Given the description of an element on the screen output the (x, y) to click on. 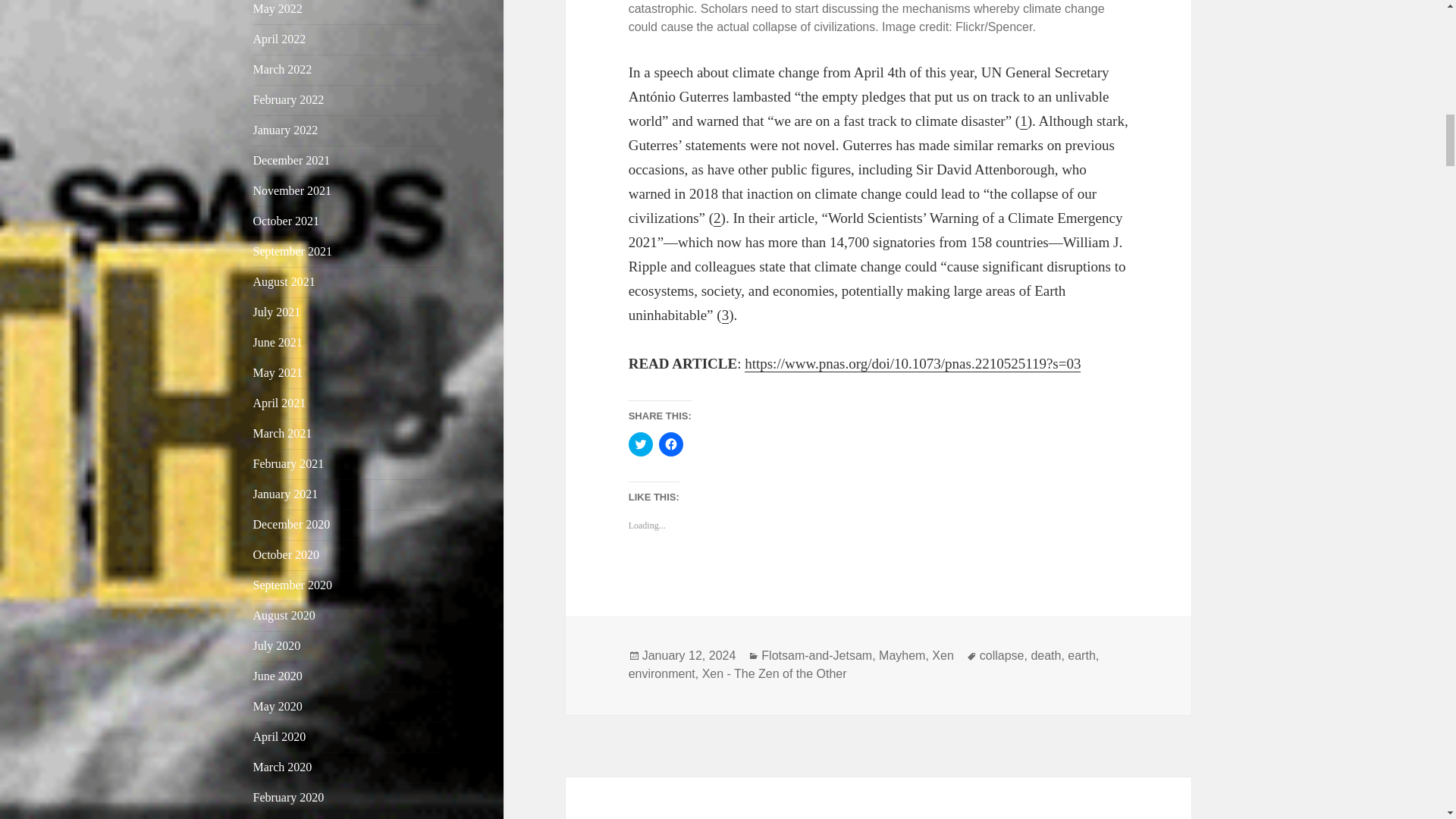
Click to share on Facebook (670, 444)
February 2022 (288, 99)
May 2022 (277, 8)
March 2022 (283, 69)
April 2022 (279, 38)
January 2022 (285, 129)
Click to share on Twitter (640, 444)
